Given the description of an element on the screen output the (x, y) to click on. 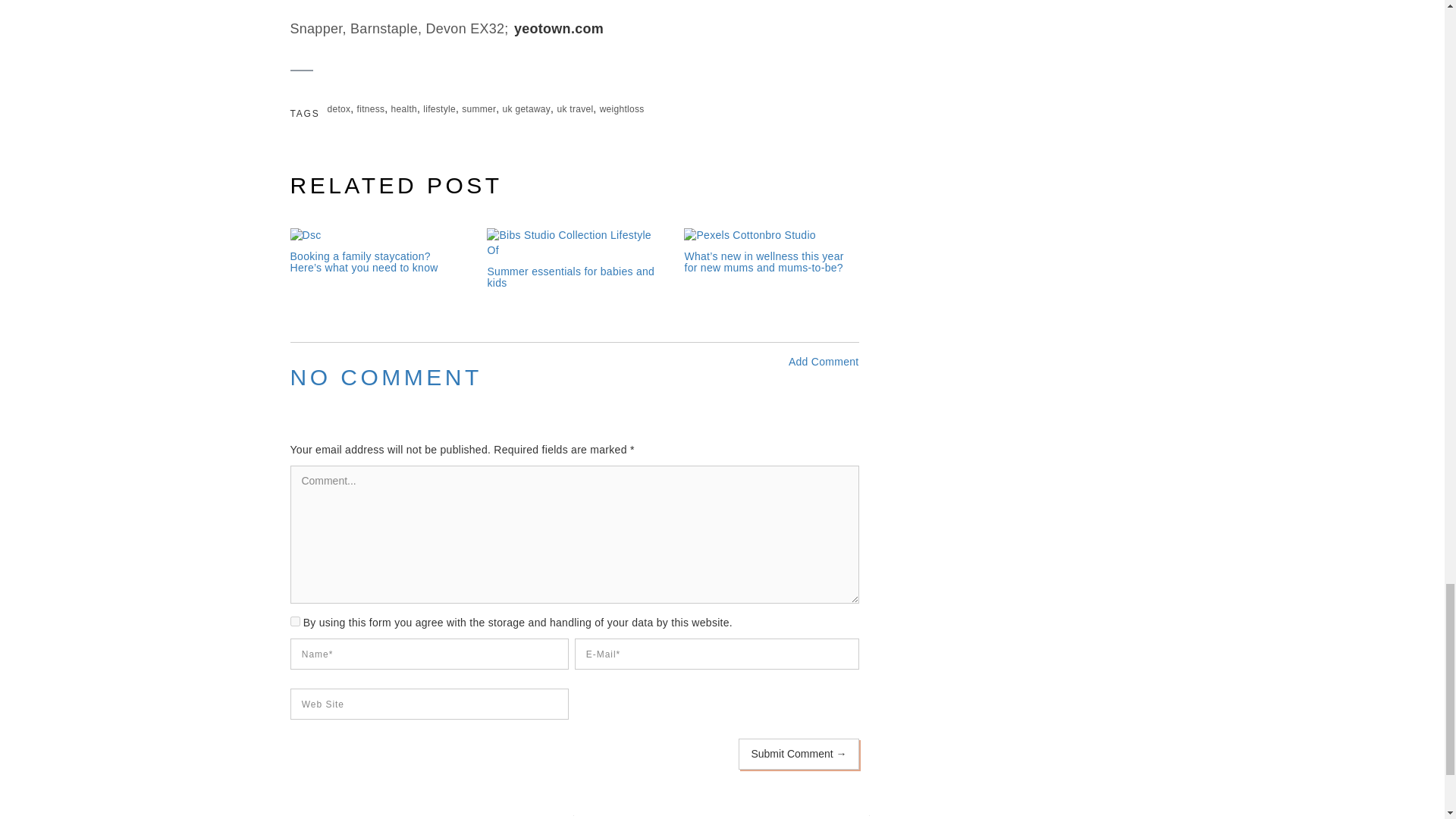
privacy-key (294, 621)
